Given the description of an element on the screen output the (x, y) to click on. 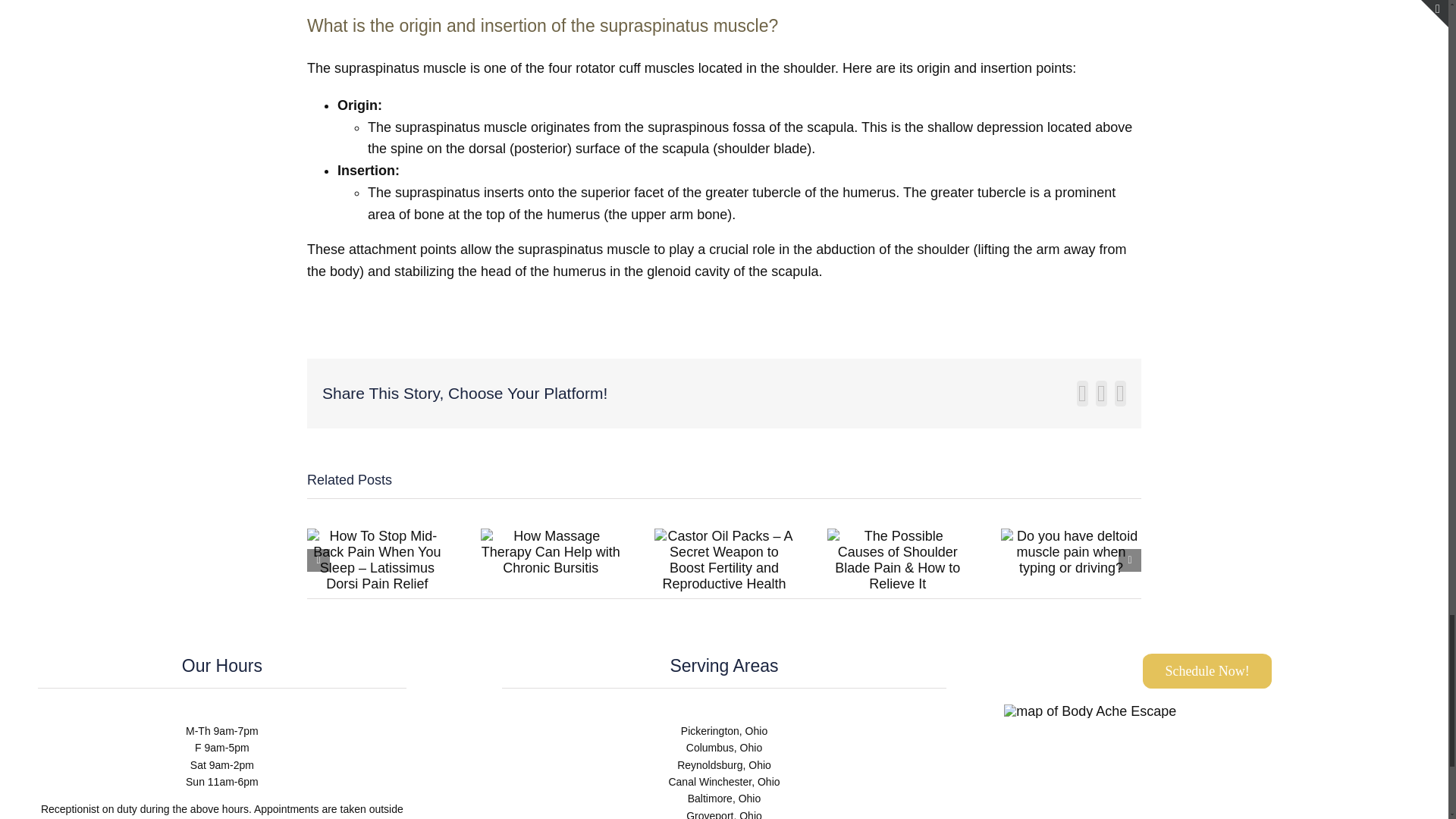
map (1090, 711)
